Given the description of an element on the screen output the (x, y) to click on. 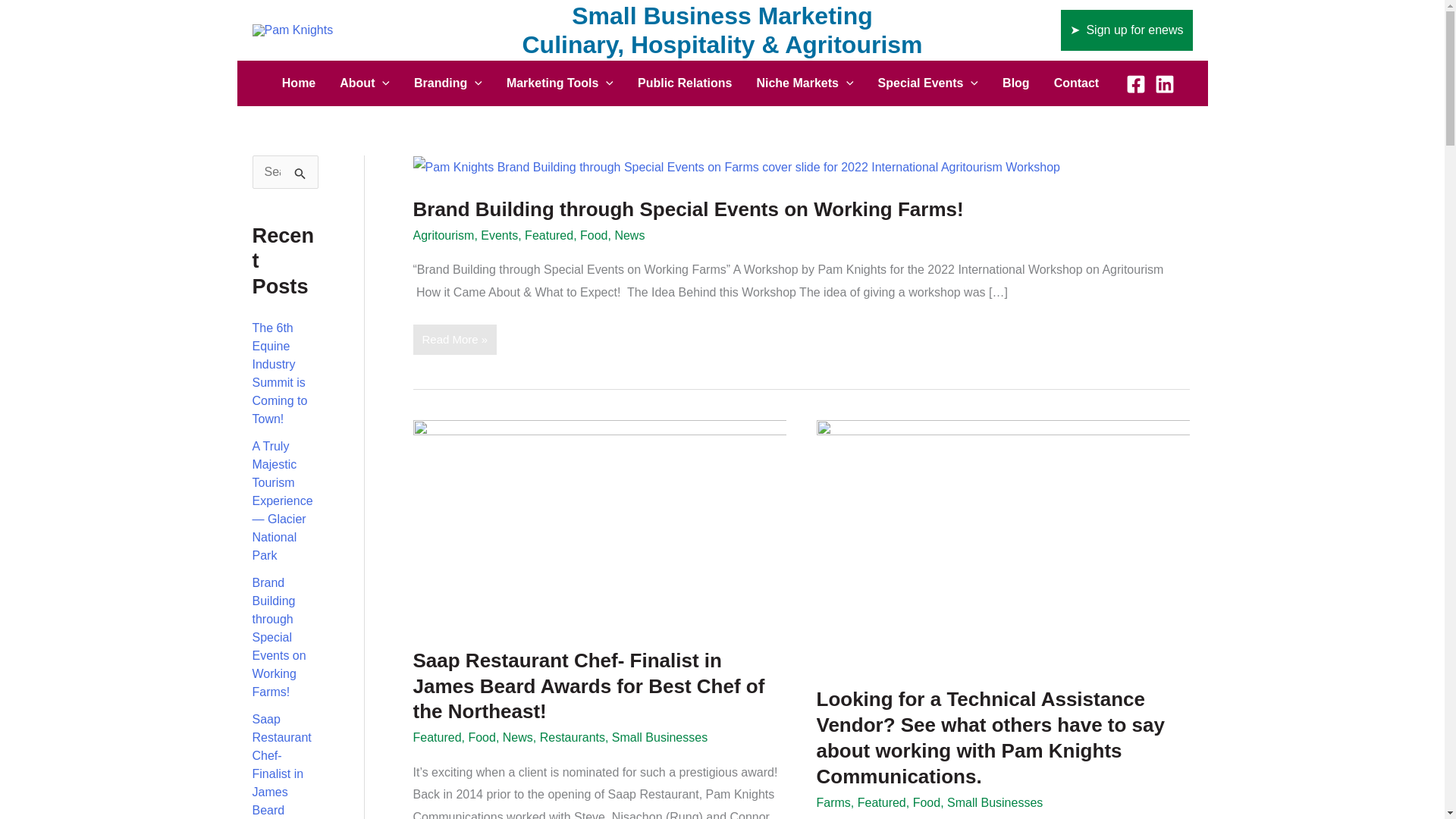
Public Relations (685, 83)
Niche Markets (804, 83)
Home (298, 83)
Marketing Tools (560, 83)
Blog (1016, 83)
Special Events (928, 83)
Branding (448, 83)
About (364, 83)
Contact (1077, 83)
